Given the description of an element on the screen output the (x, y) to click on. 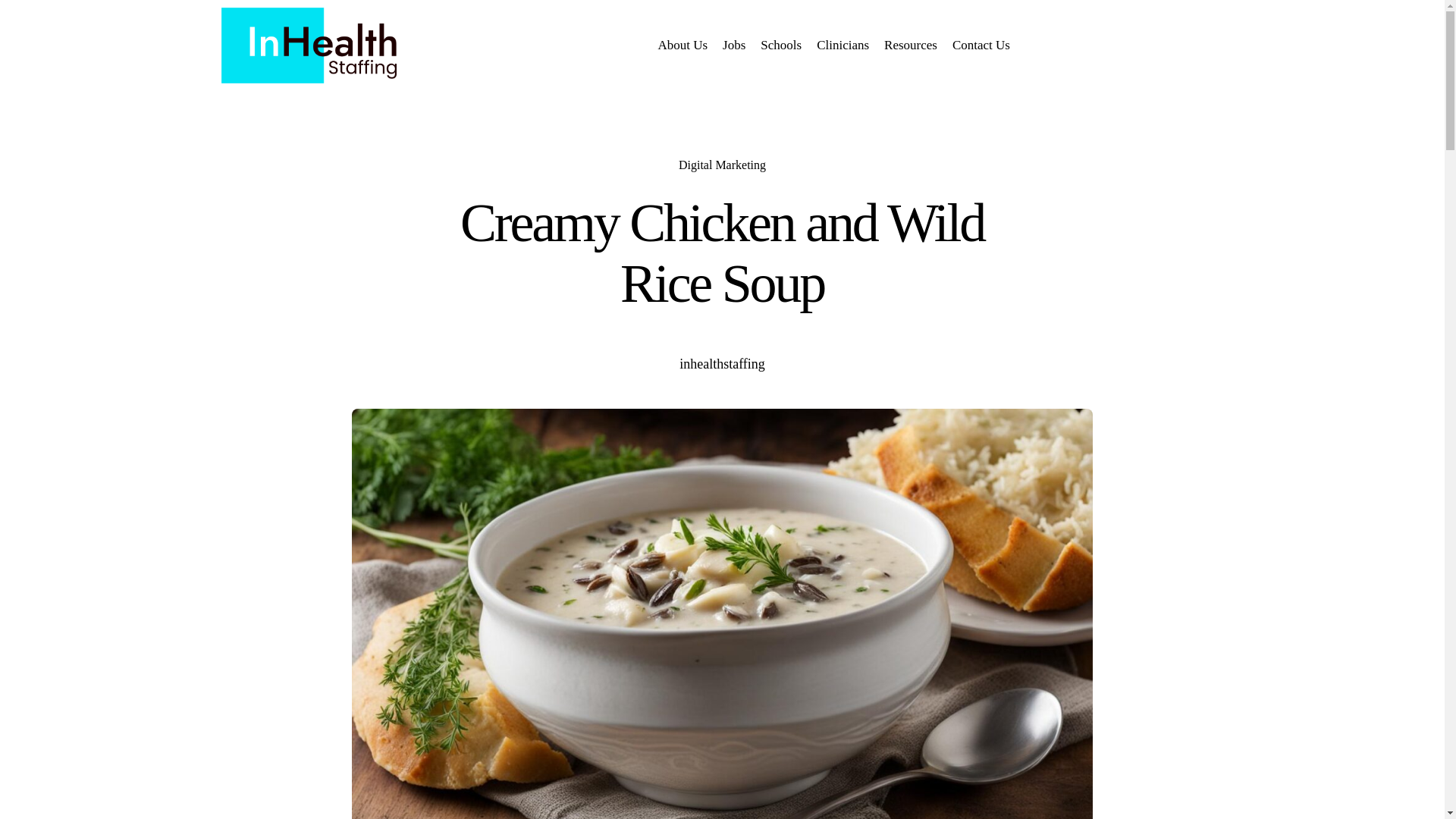
About Us (681, 44)
Digital Marketing (721, 164)
Clinicians (842, 44)
Digital Marketing (721, 164)
Resources (910, 44)
Schools (780, 44)
Contact Us (980, 44)
Jobs (733, 44)
